Given the description of an element on the screen output the (x, y) to click on. 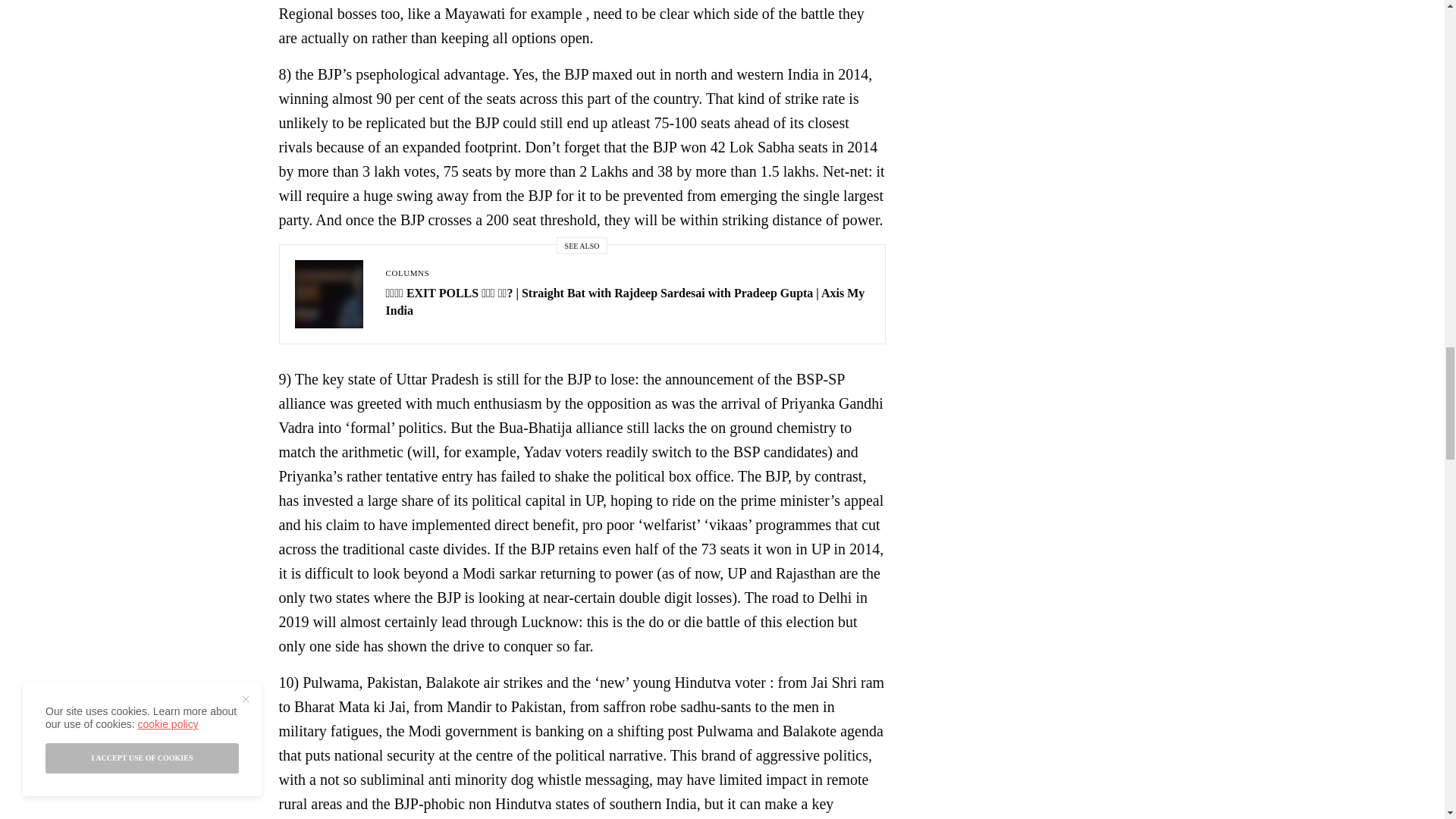
COLUMNS (407, 272)
